Given the description of an element on the screen output the (x, y) to click on. 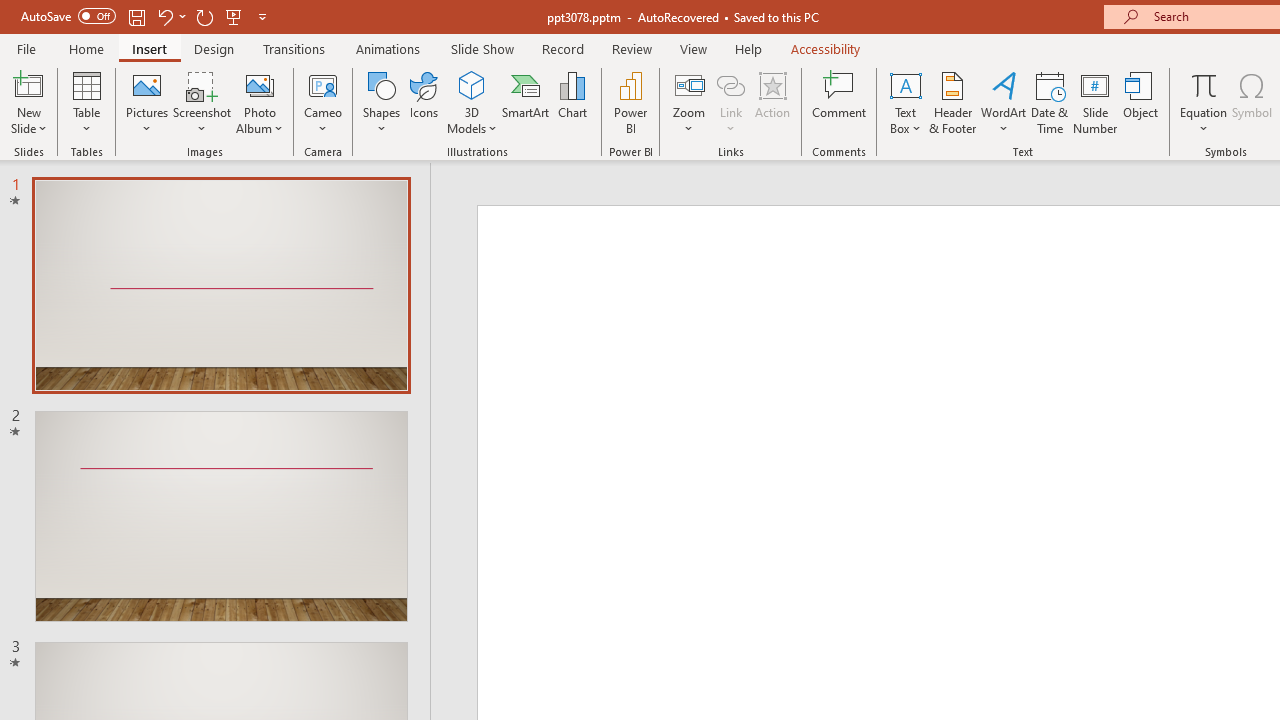
New Photo Album... (259, 84)
Date & Time... (1050, 102)
Chart... (572, 102)
Link (731, 84)
Power BI (630, 102)
Action (772, 102)
